Given the description of an element on the screen output the (x, y) to click on. 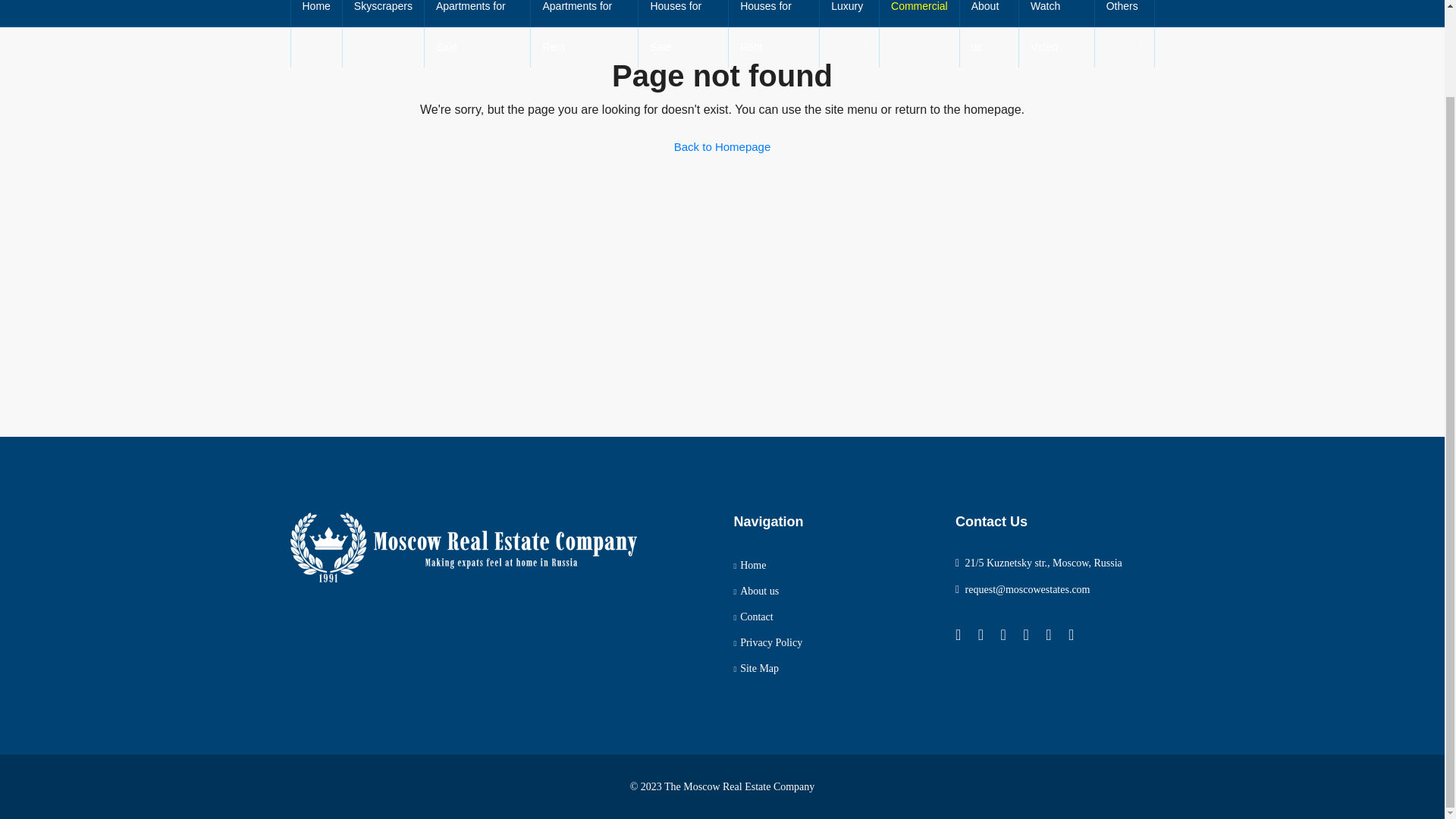
Apartments for Sale (478, 33)
Luxury (849, 13)
Houses for Rent (773, 33)
Home (316, 13)
Skyscrapers (382, 13)
Others (1124, 13)
Houses for Sale (683, 33)
Watch Video (1056, 33)
Commercial (919, 13)
Apartments for Rent (584, 33)
